Given the description of an element on the screen output the (x, y) to click on. 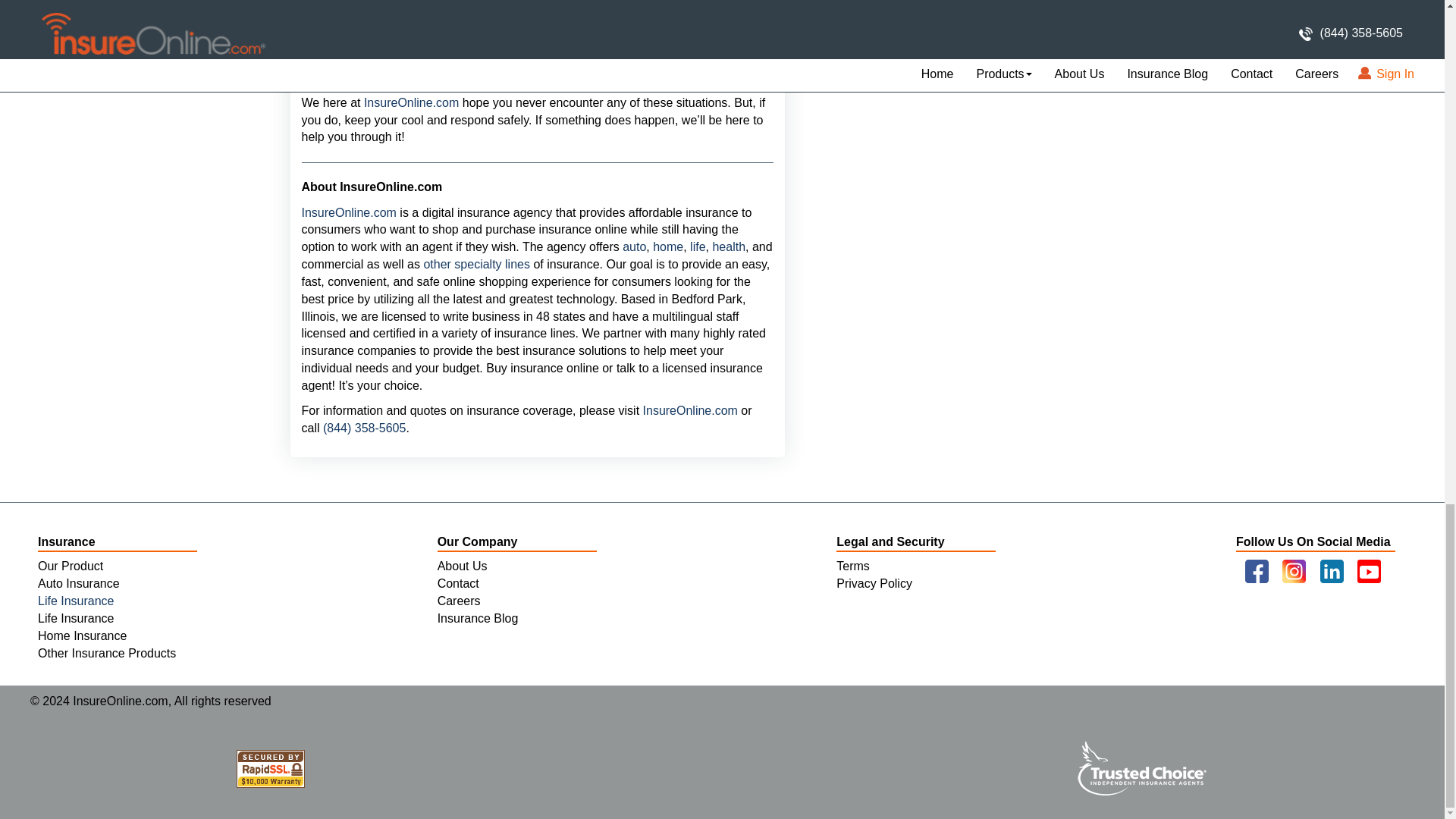
Insurance Blog (478, 617)
Terms (852, 565)
health (728, 246)
InsureOnline.com (690, 410)
auto (634, 246)
other specialty lines (476, 264)
Life Insurance (76, 617)
Home Insurance (81, 635)
InsureOnline.com (408, 102)
InsureOnline.com (348, 212)
life (697, 246)
Auto Insurance (78, 583)
Our Product (70, 565)
Careers (459, 600)
About Us (462, 565)
